Given the description of an element on the screen output the (x, y) to click on. 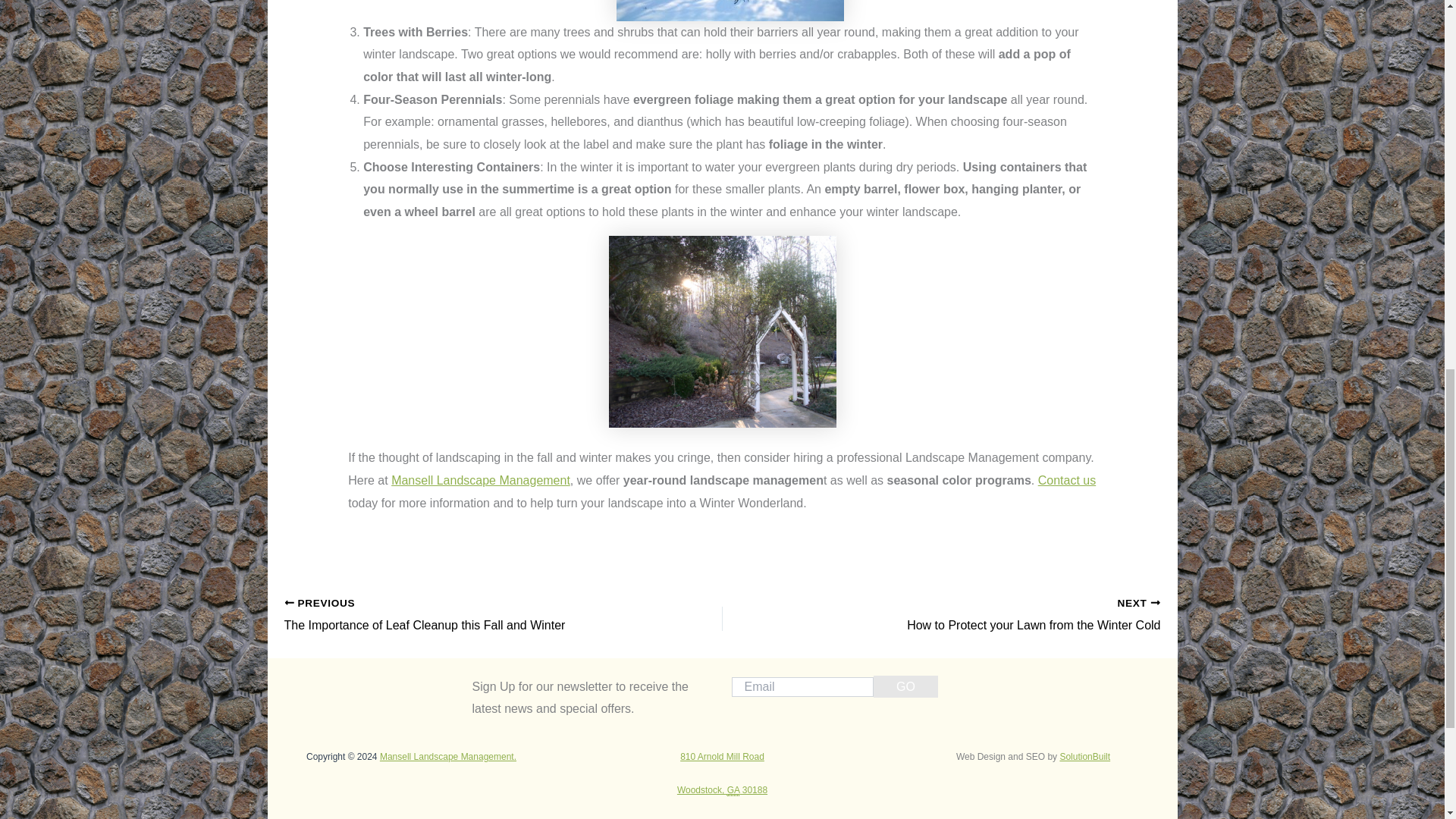
The Importance of Leaf Cleanup this Fall and Winter (458, 615)
How to Protect your Lawn from the Winter Cold (984, 615)
GO (905, 686)
Georgia (732, 790)
